Given the description of an element on the screen output the (x, y) to click on. 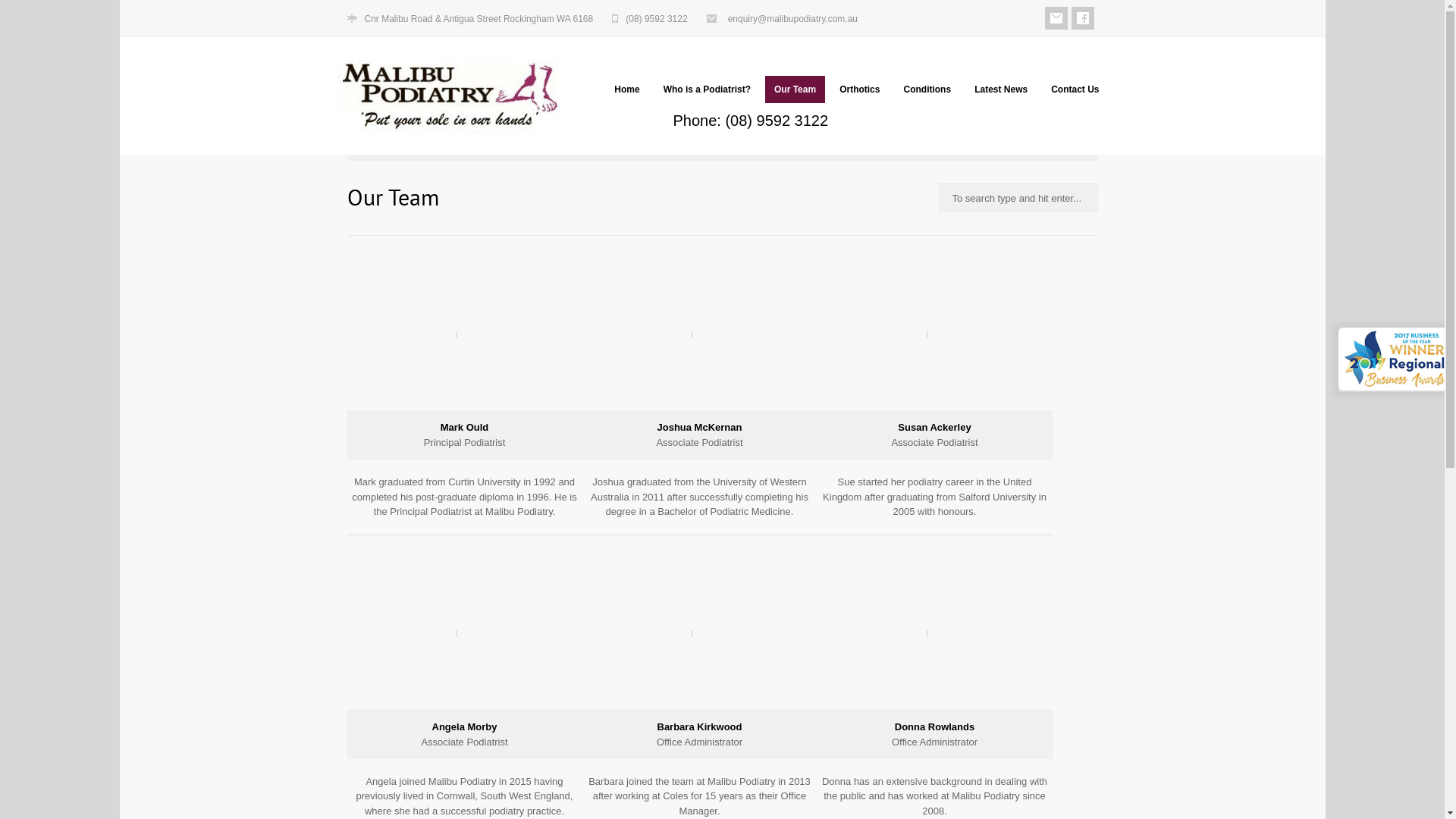
enquiry@malibupodiatry.com.au Element type: text (792, 18)
Orthotics Element type: text (859, 89)
(08) 9592 3122 Element type: text (656, 18)
Home Element type: text (626, 89)
Our Team Element type: text (794, 89)
Who is a Podiatrist? Element type: text (706, 89)
Latest News Element type: text (1000, 89)
Conditions Element type: text (926, 89)
Contact Us Element type: text (1074, 89)
Phone: (08) 9592 3122 Element type: text (750, 120)
Cnr Malibu Road & Antigua Street Rockingham WA 6168 Element type: text (478, 18)
